Given the description of an element on the screen output the (x, y) to click on. 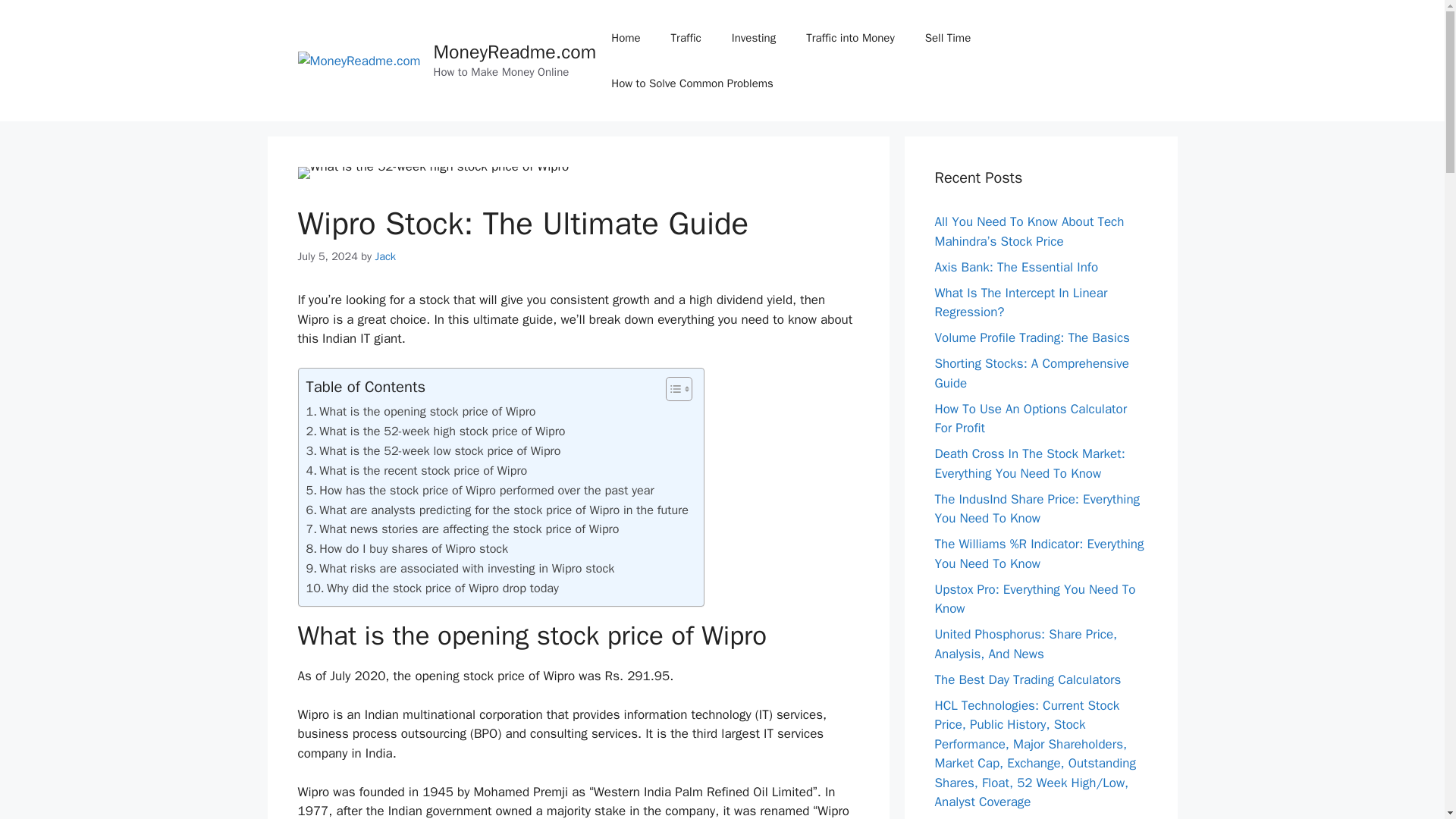
The IndusInd Share Price: Everything You Need To Know (1037, 509)
Sell Time (948, 37)
Death Cross In The Stock Market: Everything You Need To Know (1029, 463)
What is the 52-week high stock price of Wipro (435, 431)
Shorting Stocks: A Comprehensive Guide (1031, 373)
What is the 52-week low stock price of Wipro (432, 451)
Why did the stock price of Wipro drop today (432, 588)
What is the recent stock price of Wipro (416, 470)
What risks are associated with investing in Wipro stock (459, 568)
Home (625, 37)
